Given the description of an element on the screen output the (x, y) to click on. 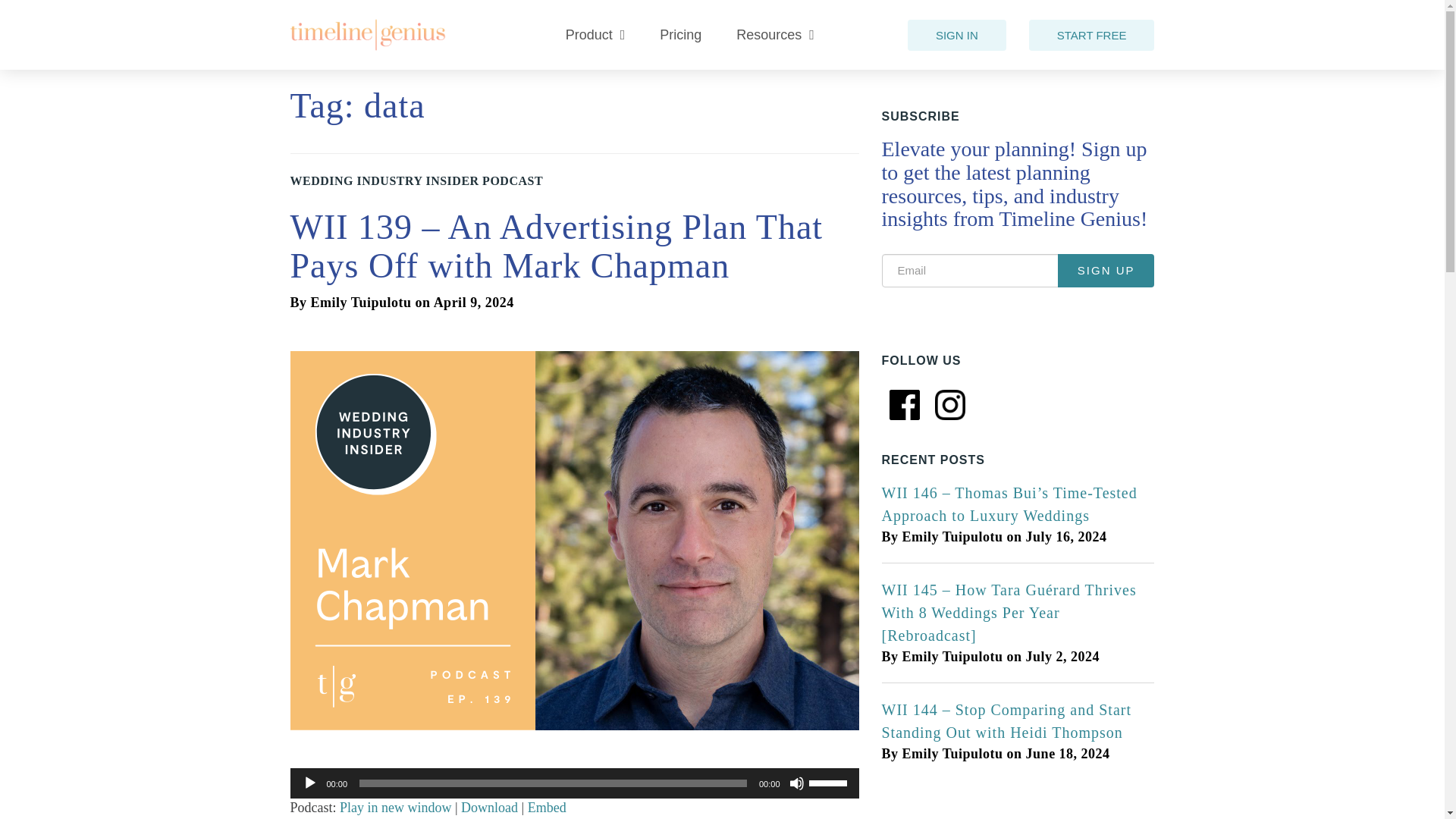
Product (595, 34)
Pricing (680, 34)
SIGN IN (956, 34)
 Wedding Industry Insider Podcast  (416, 180)
Resources (774, 34)
START FREE (1091, 34)
Play (309, 783)
Download (489, 807)
Mute (796, 783)
Play in new window (395, 807)
Embed (546, 807)
